Given the description of an element on the screen output the (x, y) to click on. 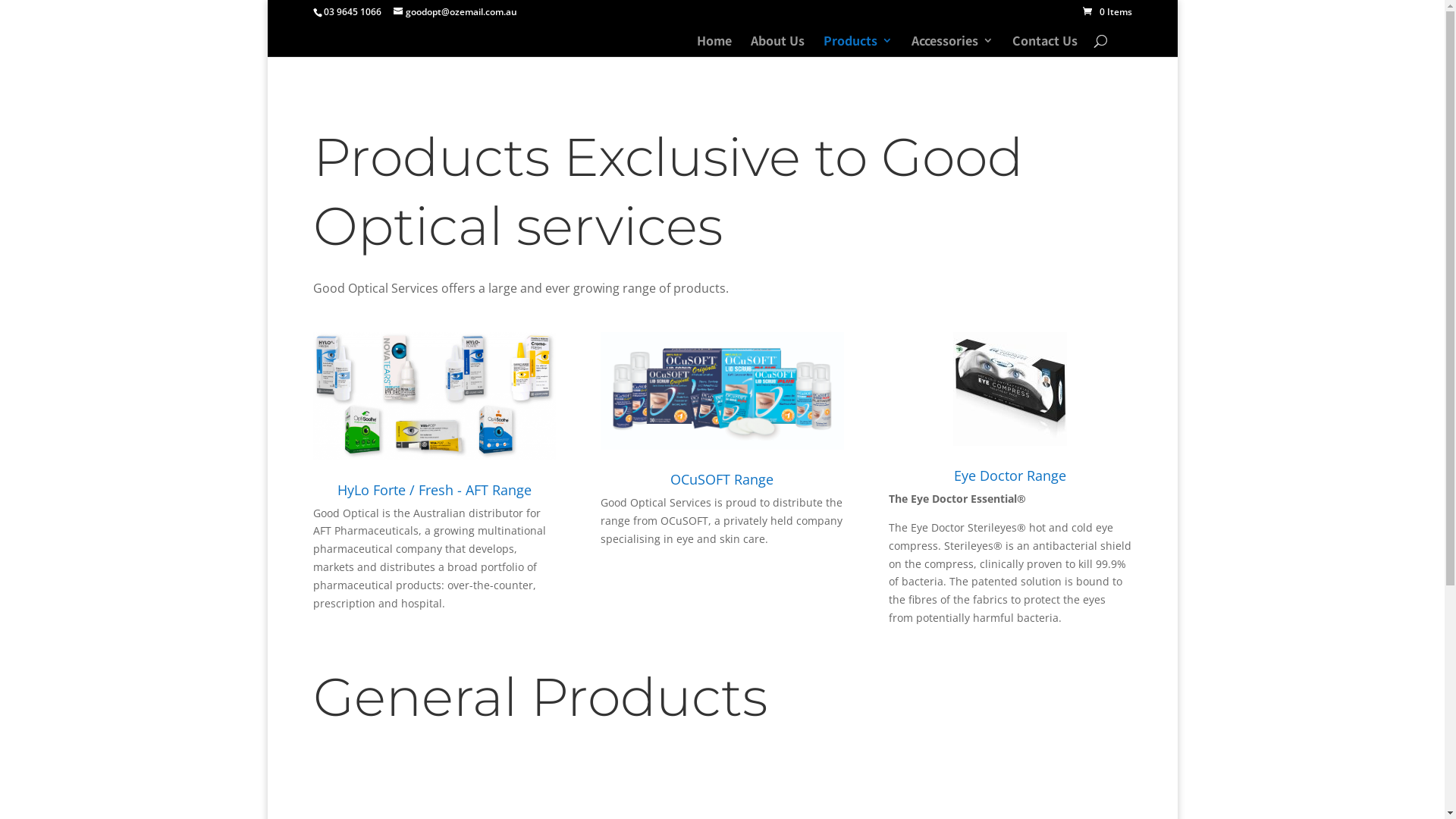
Products Element type: text (857, 45)
goodopt@ozemail.com.au Element type: text (454, 11)
Accessories Element type: text (952, 45)
Home Element type: text (713, 45)
About Us Element type: text (777, 45)
Eye Doctor Range Element type: text (1009, 475)
Contact Us Element type: text (1043, 45)
OCuSOFT Range Element type: text (721, 479)
0 Items Element type: text (1107, 11)
